Given the description of an element on the screen output the (x, y) to click on. 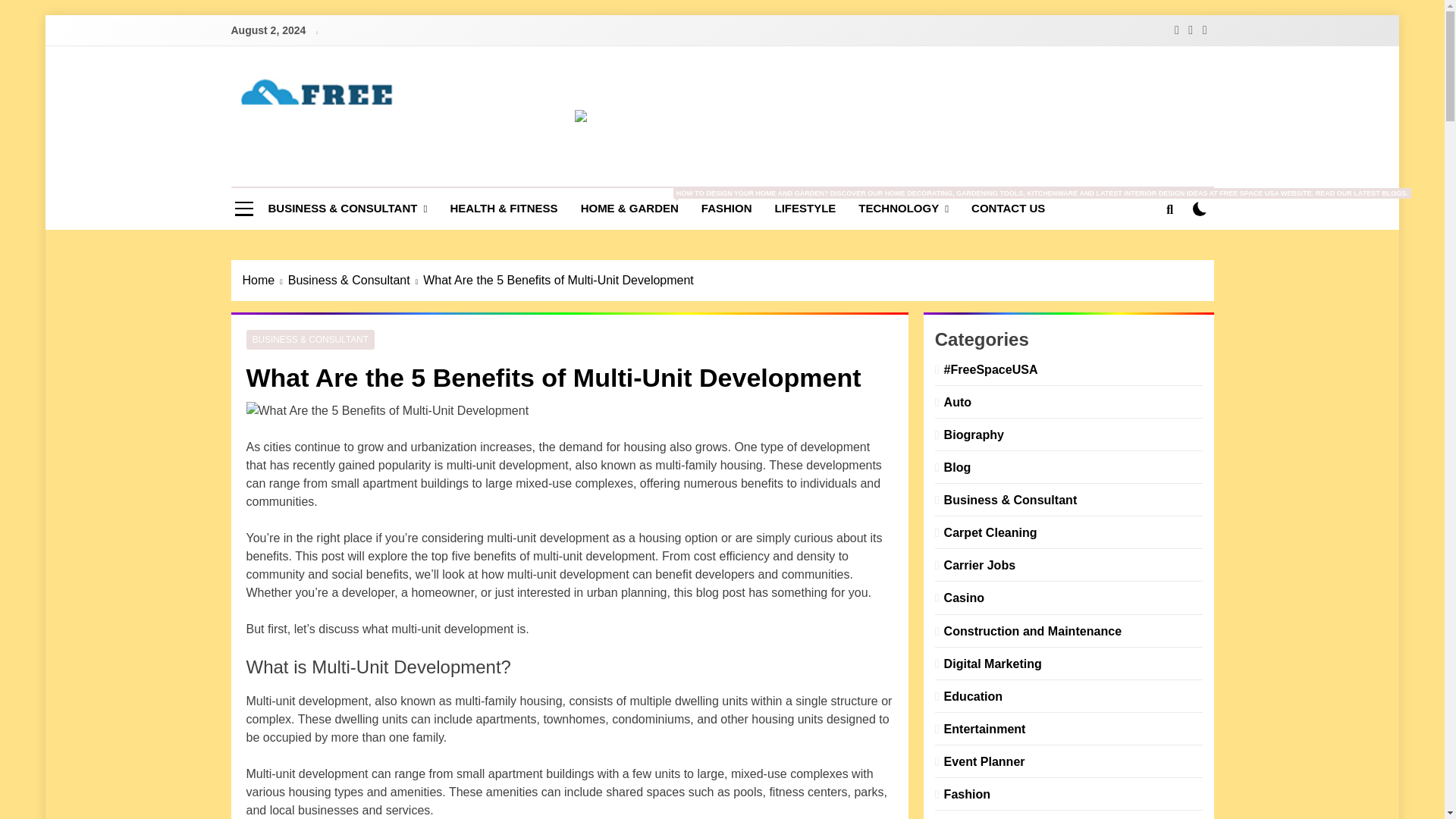
on (1199, 208)
What Are the 5 Benefits of Multi-Unit Development (387, 411)
Free Space USA (379, 172)
